Given the description of an element on the screen output the (x, y) to click on. 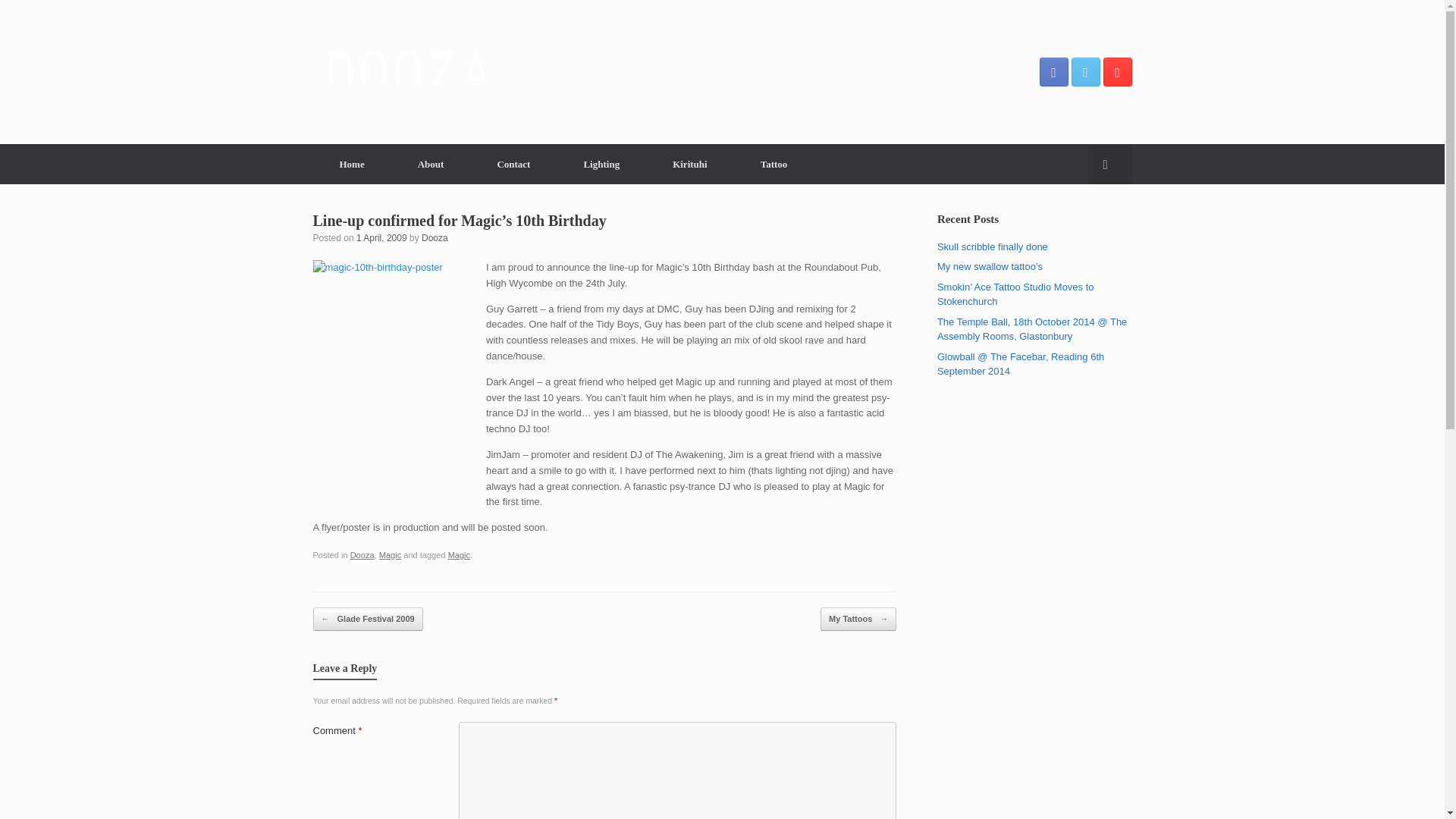
Lighting (601, 164)
Magic (389, 554)
dooza.tv Facebook (1053, 71)
Dooza (362, 554)
lets chat (513, 164)
About (430, 164)
dooza.tv (407, 71)
9:11 pm (381, 237)
Dooza (435, 237)
Skull scribble finally done (992, 246)
